Given the description of an element on the screen output the (x, y) to click on. 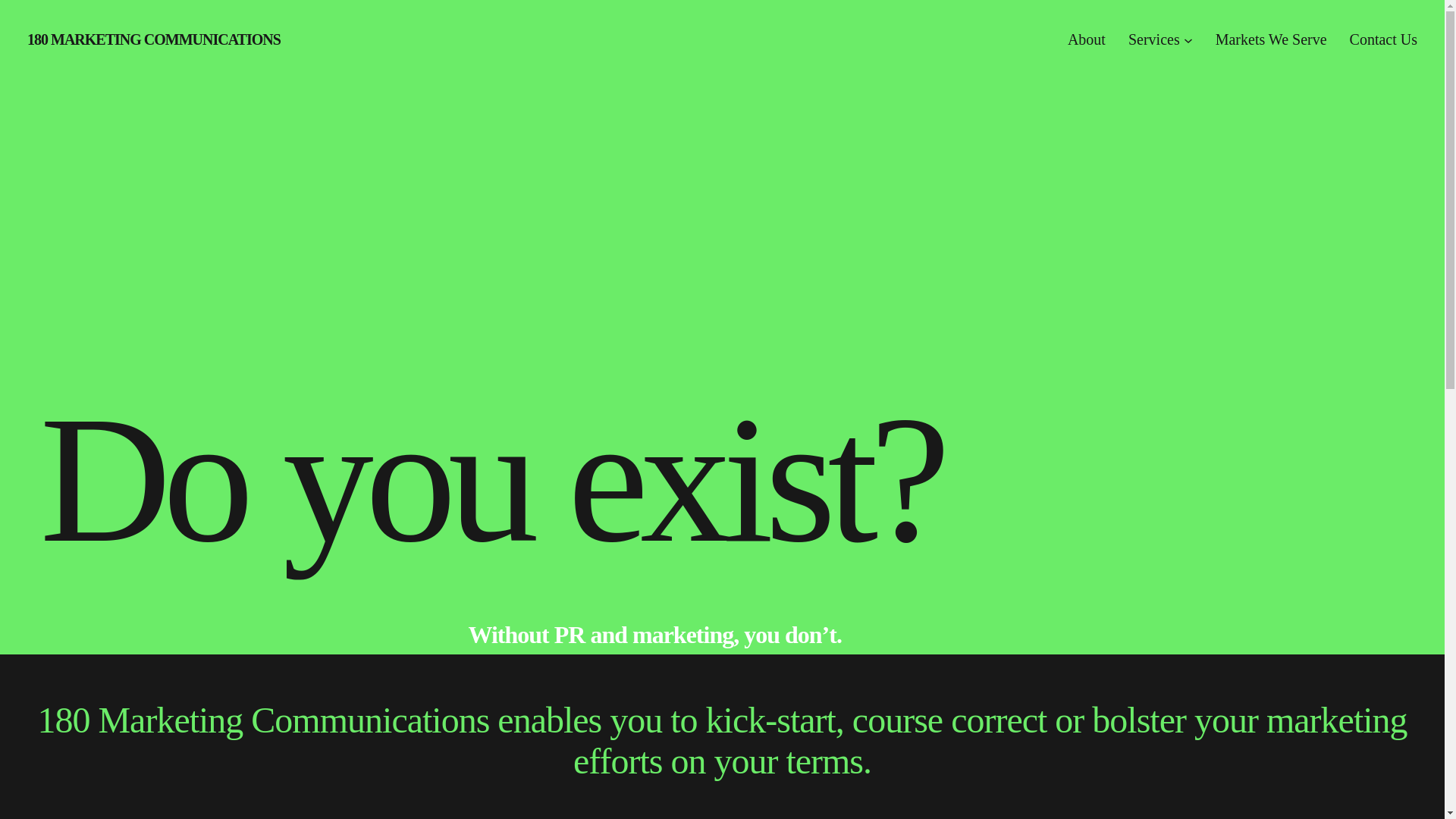
About Element type: text (1086, 39)
Contact Us Element type: text (1383, 39)
Markets We Serve Element type: text (1271, 39)
180 MARKETING COMMUNICATIONS Element type: text (153, 39)
Services Element type: text (1153, 39)
